Given the description of an element on the screen output the (x, y) to click on. 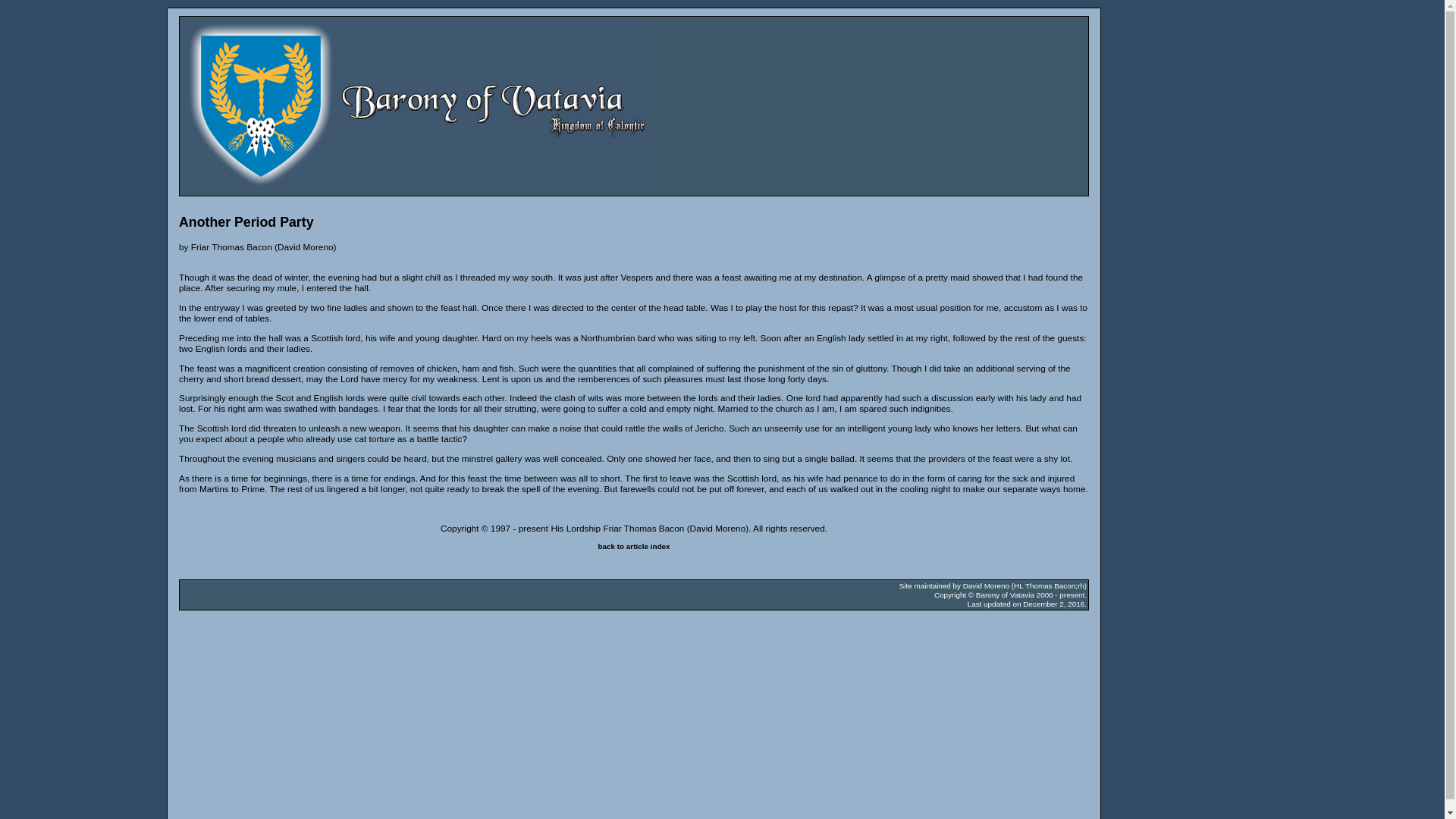
back to article index (633, 546)
